Given the description of an element on the screen output the (x, y) to click on. 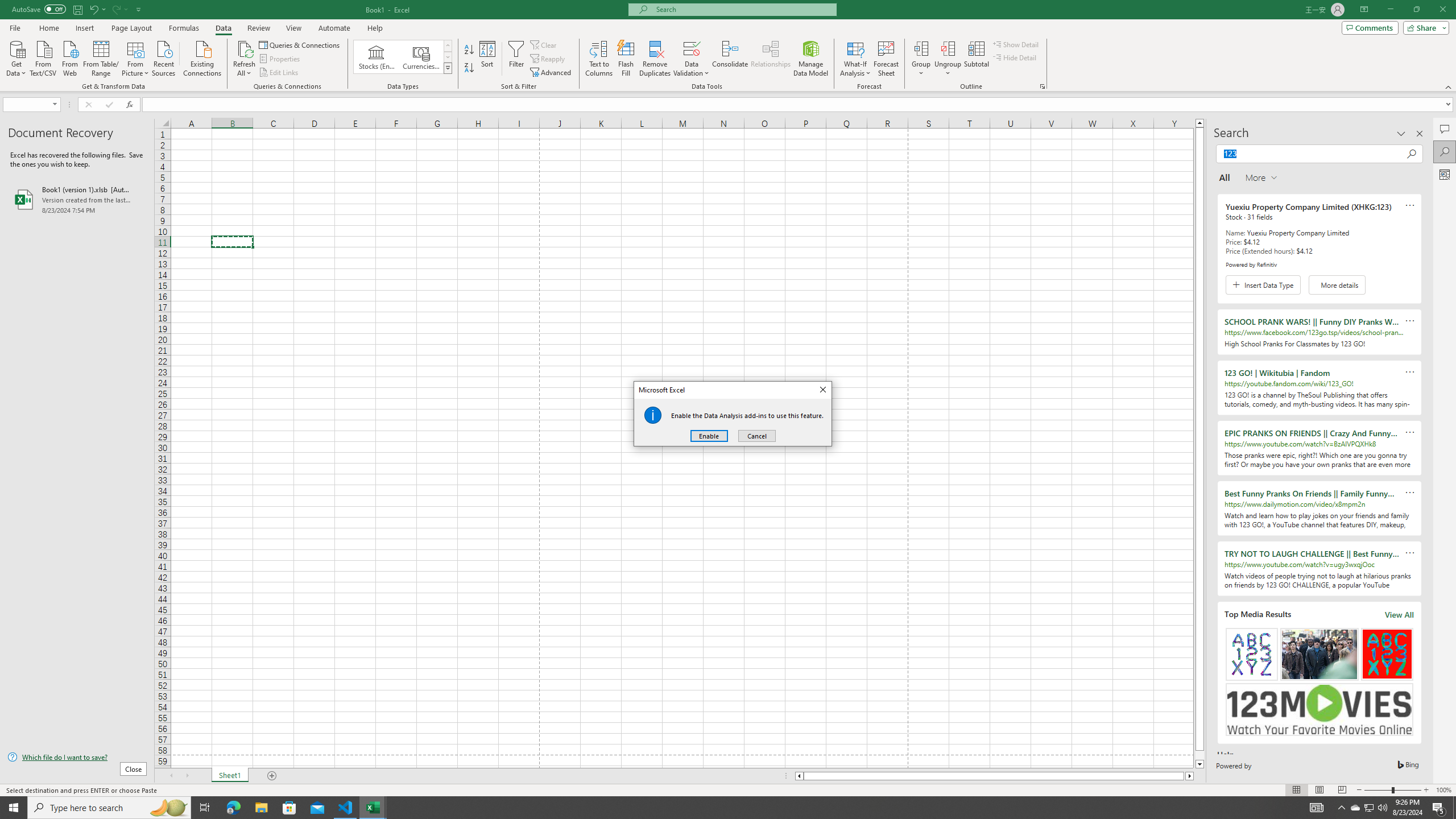
Cancel (757, 435)
Q2790: 100% (1382, 807)
Notification Chevron (1341, 807)
File Explorer (261, 807)
Microsoft Edge (233, 807)
